Given the description of an element on the screen output the (x, y) to click on. 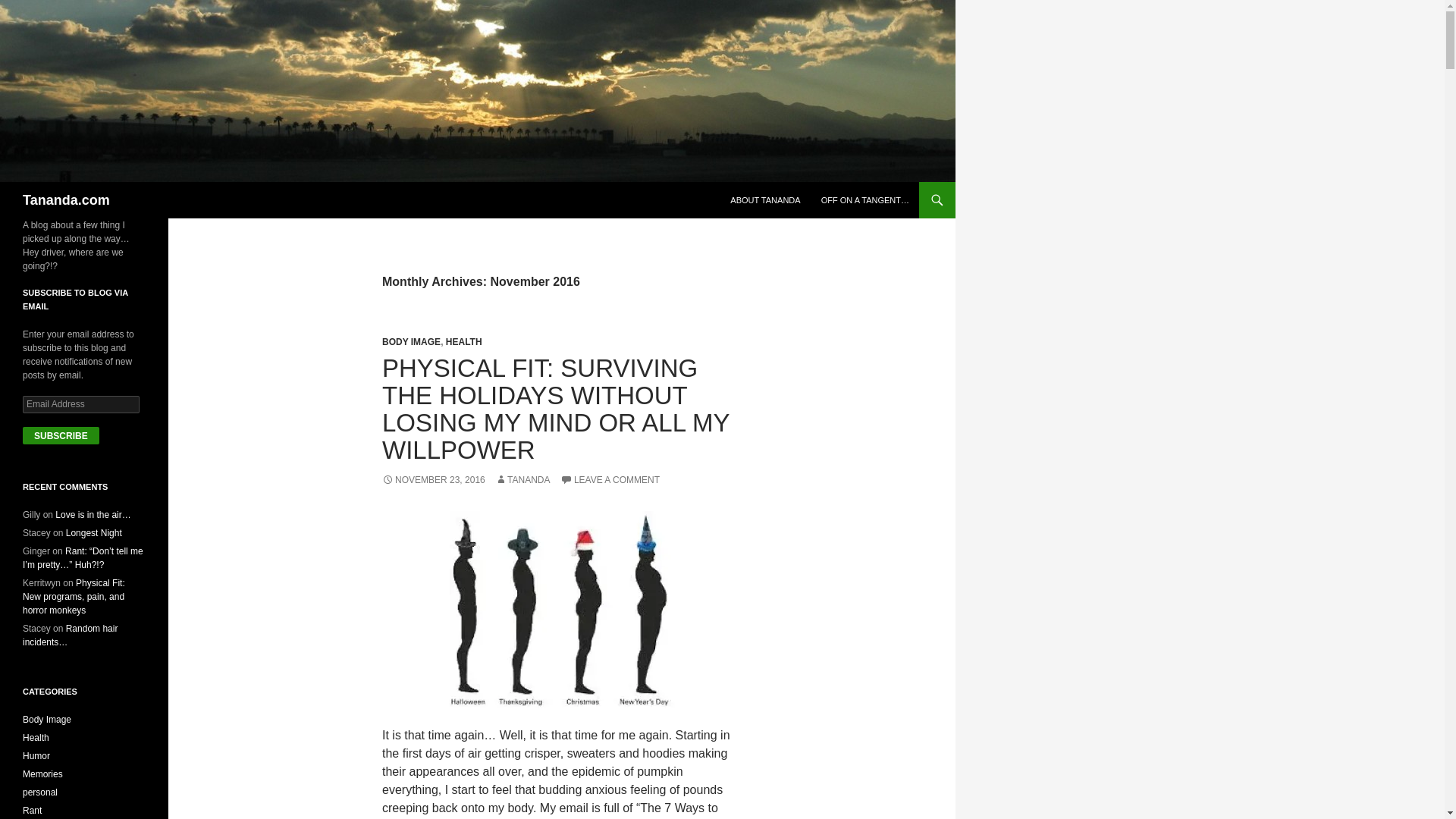
BODY IMAGE (411, 341)
ABOUT TANANDA (764, 199)
Tananda.com (66, 199)
HEALTH (463, 341)
NOVEMBER 23, 2016 (432, 480)
LEAVE A COMMENT (609, 480)
TANANDA (522, 480)
